Given the description of an element on the screen output the (x, y) to click on. 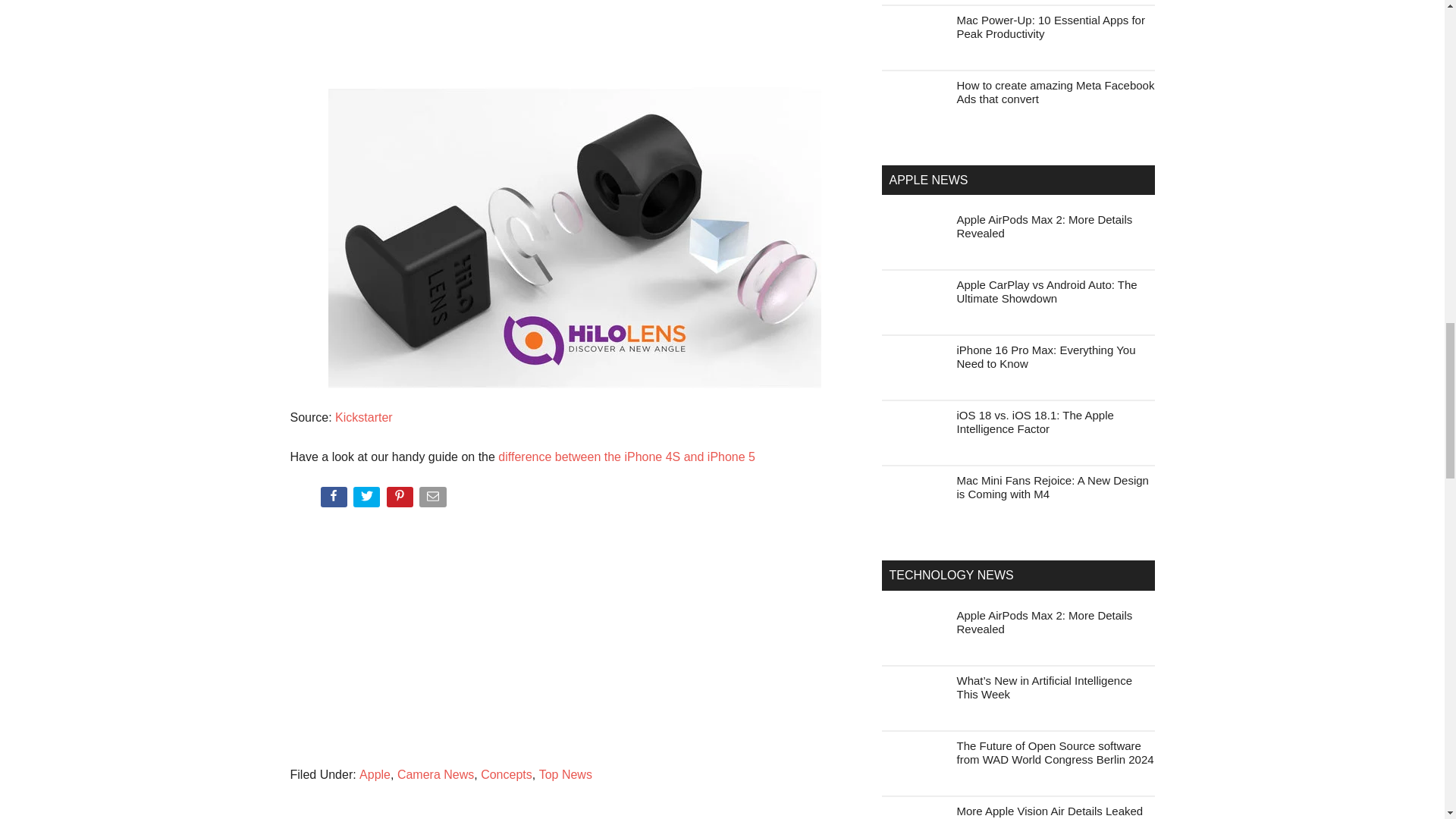
Concepts (506, 774)
Email (433, 499)
Pin (401, 499)
difference between iPhone 4S and iPhone 5 (626, 456)
difference between the iPhone 4S and iPhone 5 (626, 456)
Top News (565, 774)
Share on Facebook (334, 499)
Camera News (435, 774)
Kickstarter (363, 417)
